Given the description of an element on the screen output the (x, y) to click on. 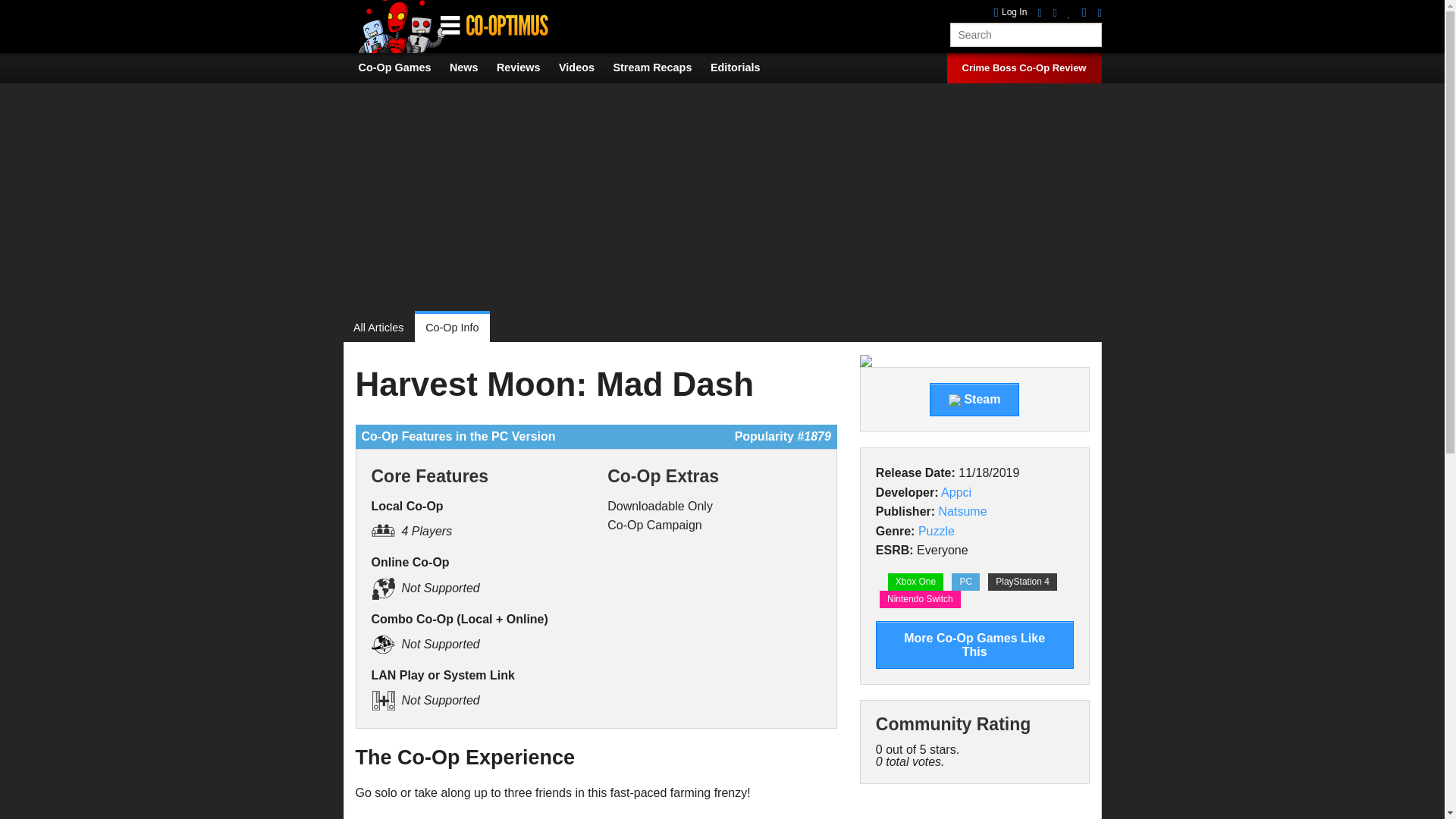
News (471, 67)
Weekly Video Streams and VODs from Co-Optimus (659, 67)
Date in which the game was first playable in co-op (915, 472)
Steam (974, 399)
Co-Op Games (401, 67)
Natsume (963, 511)
Stream Recaps (659, 67)
 Log In (1010, 11)
Reviews (526, 67)
Appci (955, 492)
login (1010, 11)
Videos (584, 67)
Co-Op Info (451, 327)
Crime Boss Co-Op Review (1023, 67)
Puzzle (936, 530)
